Given the description of an element on the screen output the (x, y) to click on. 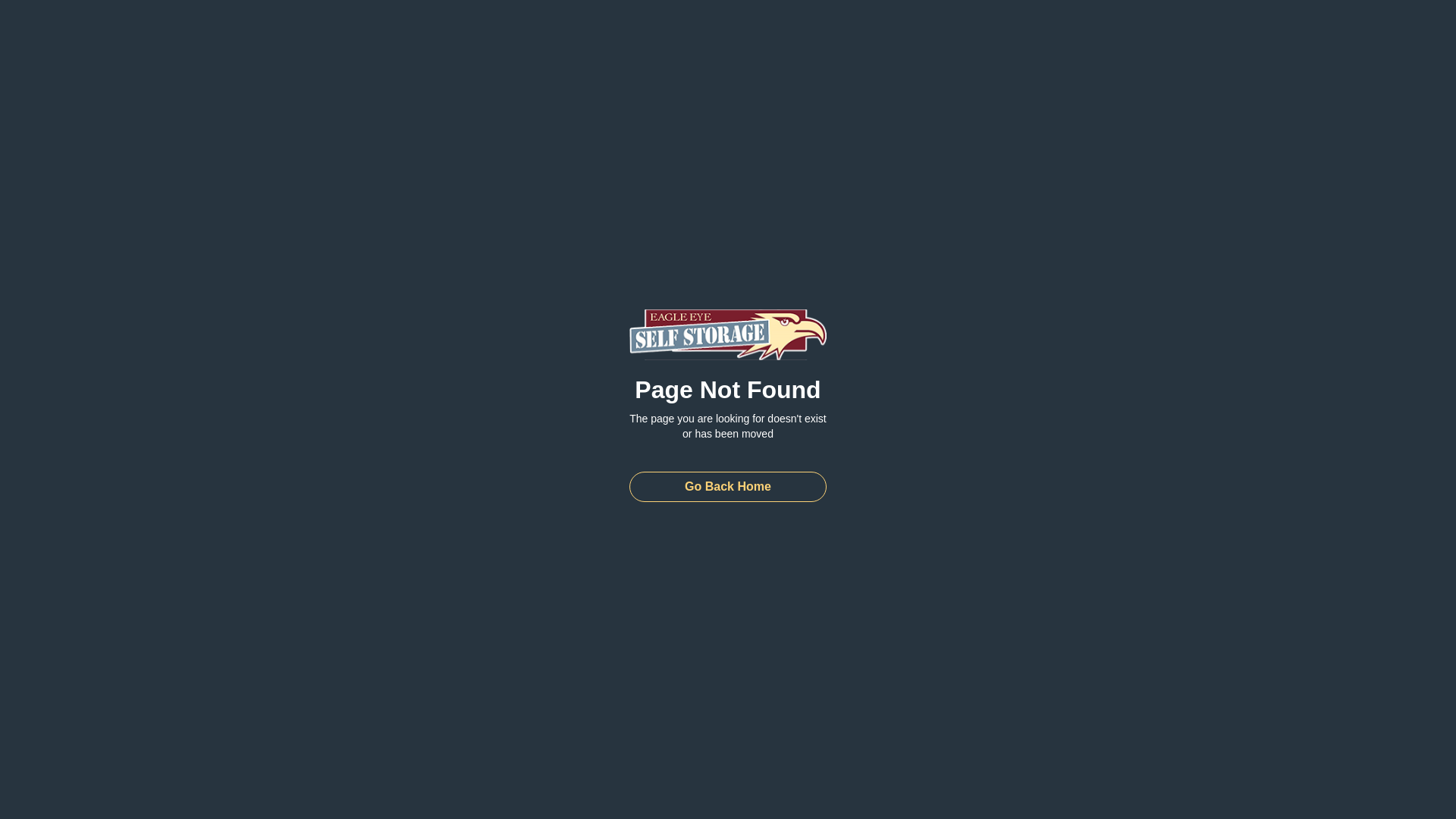
Go Back Home Element type: text (727, 486)
